Given the description of an element on the screen output the (x, y) to click on. 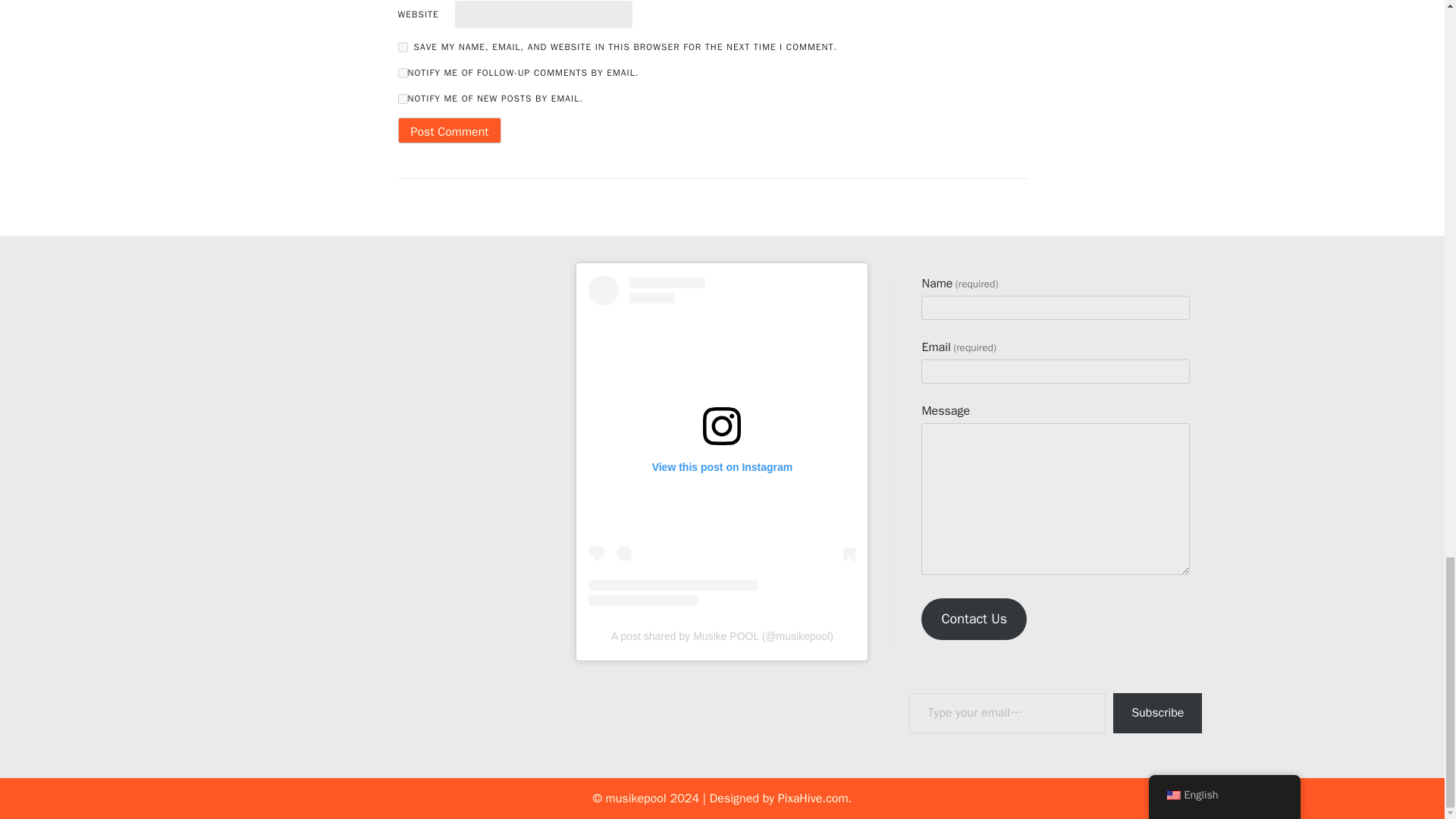
subscribe (402, 99)
Please fill in this field. (1006, 712)
subscribe (402, 72)
Spotify Embed: MusikePOOL (389, 395)
Post Comment (448, 130)
Post Comment (448, 130)
yes (402, 47)
